Given the description of an element on the screen output the (x, y) to click on. 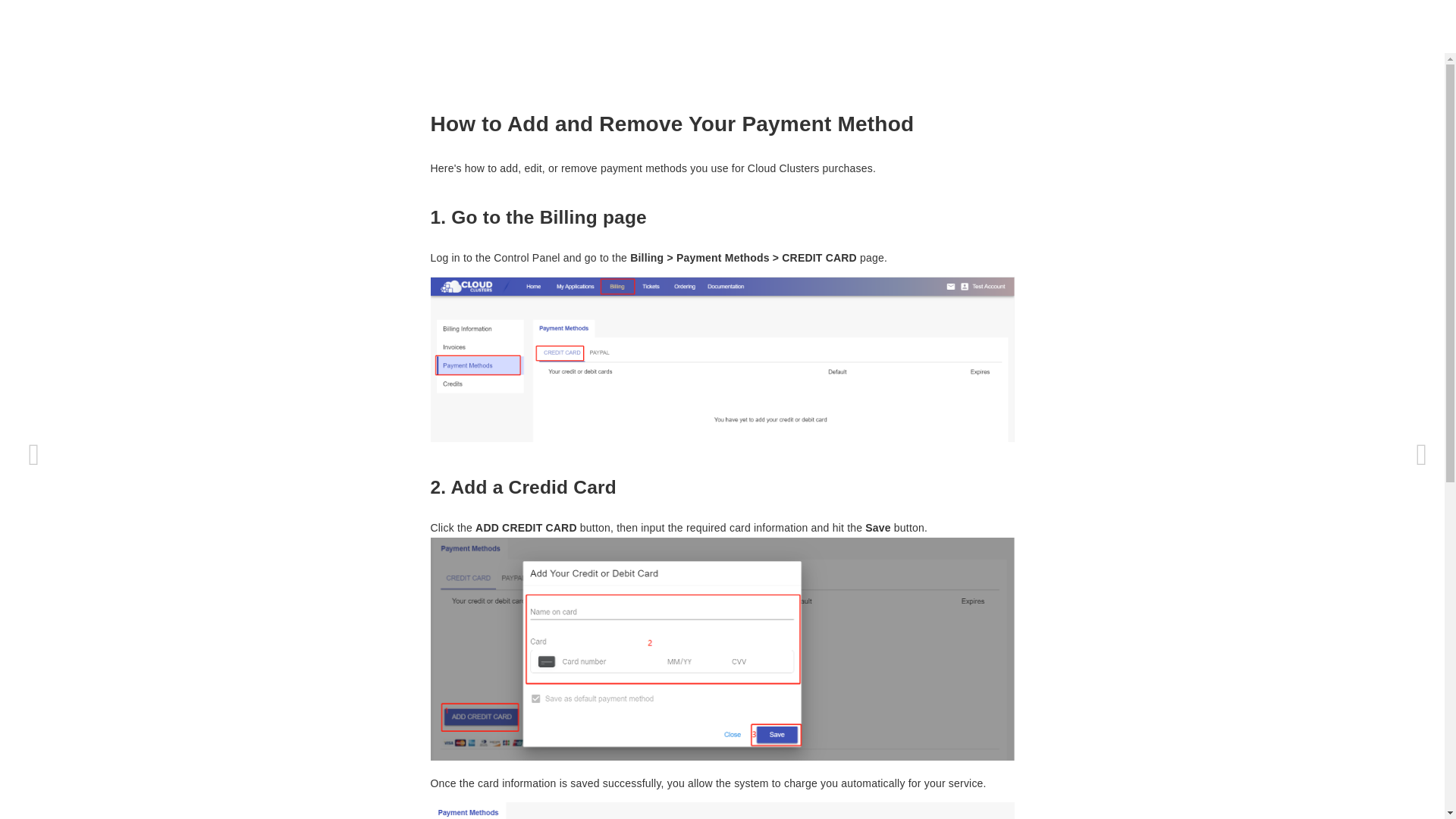
Type in your credit card info (722, 648)
Go to the Billing page (722, 359)
